Given the description of an element on the screen output the (x, y) to click on. 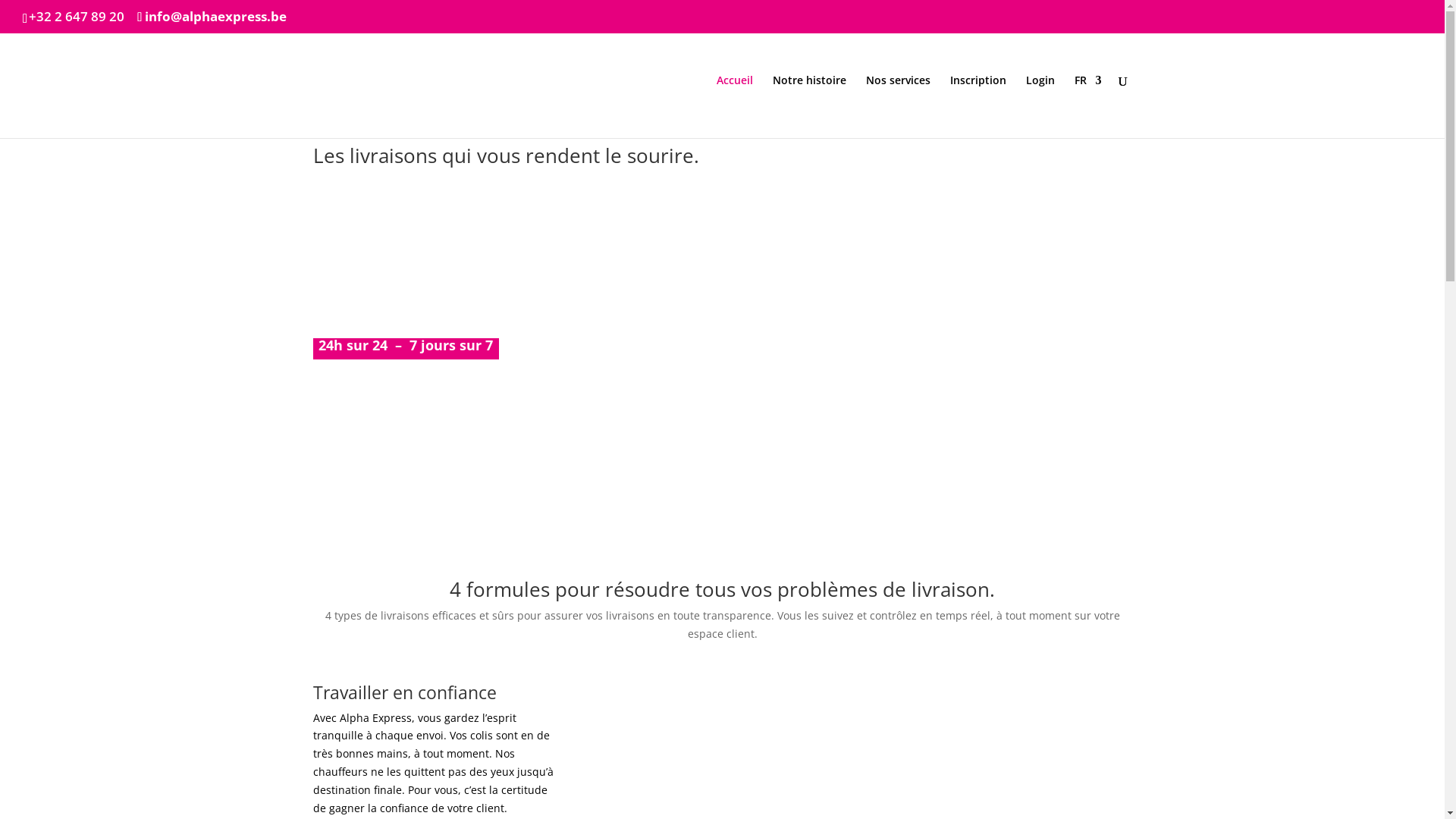
Login Element type: text (1039, 106)
info@alphaexpress.be Element type: text (211, 16)
FR Element type: text (1087, 106)
Inscription Element type: text (977, 106)
Accueil Element type: text (733, 106)
Notre histoire Element type: text (808, 106)
Nos services Element type: text (898, 106)
